Given the description of an element on the screen output the (x, y) to click on. 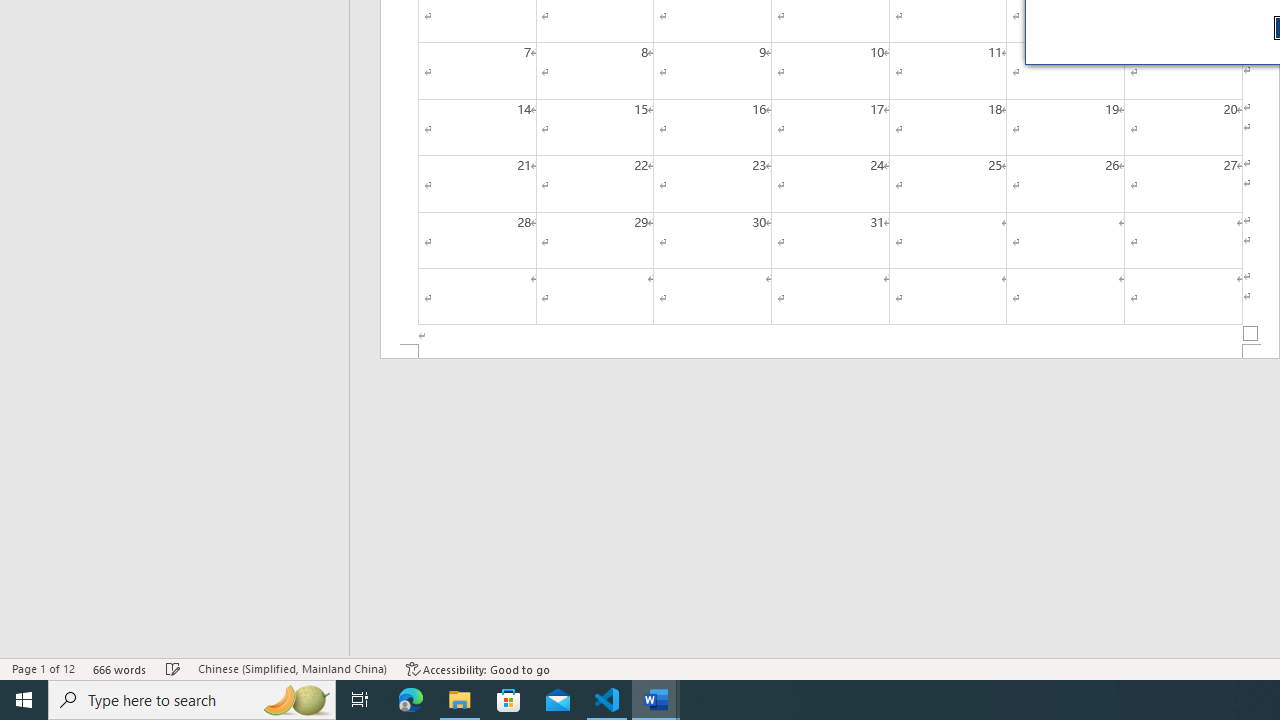
Microsoft Store (509, 699)
Footer -Section 1- (830, 351)
